Given the description of an element on the screen output the (x, y) to click on. 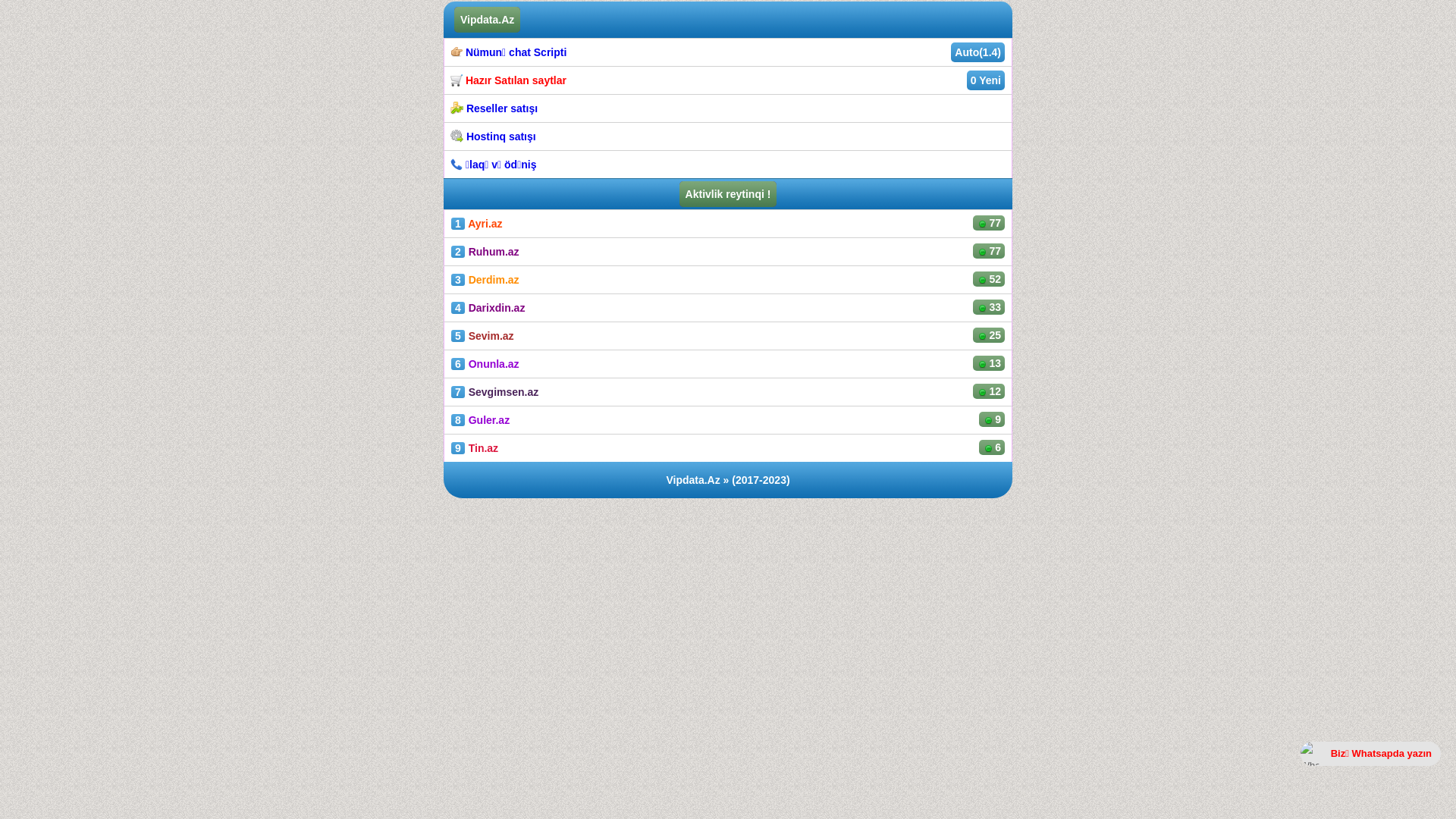
Onunla.az Element type: text (493, 363)
Sevgimsen.az Element type: text (503, 391)
Ayri.az Element type: text (484, 223)
Tin.az Element type: text (483, 448)
Ruhum.az Element type: text (493, 251)
Sevim.az Element type: text (491, 335)
Darixdin.az Element type: text (496, 307)
Guler.az Element type: text (488, 420)
Derdim.az Element type: text (493, 279)
